Given the description of an element on the screen output the (x, y) to click on. 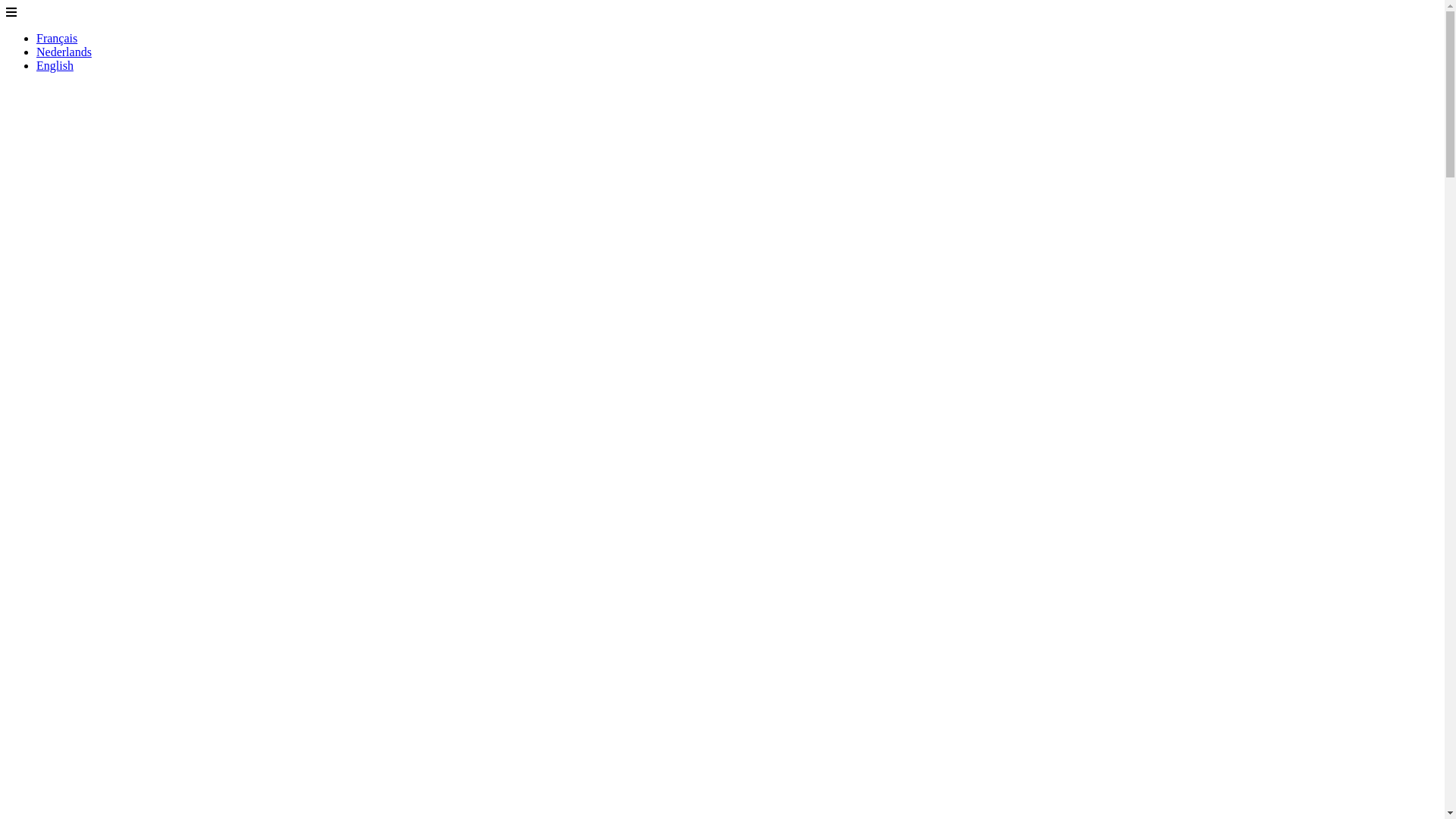
Nederlands Element type: text (63, 51)
English Element type: text (54, 65)
